Given the description of an element on the screen output the (x, y) to click on. 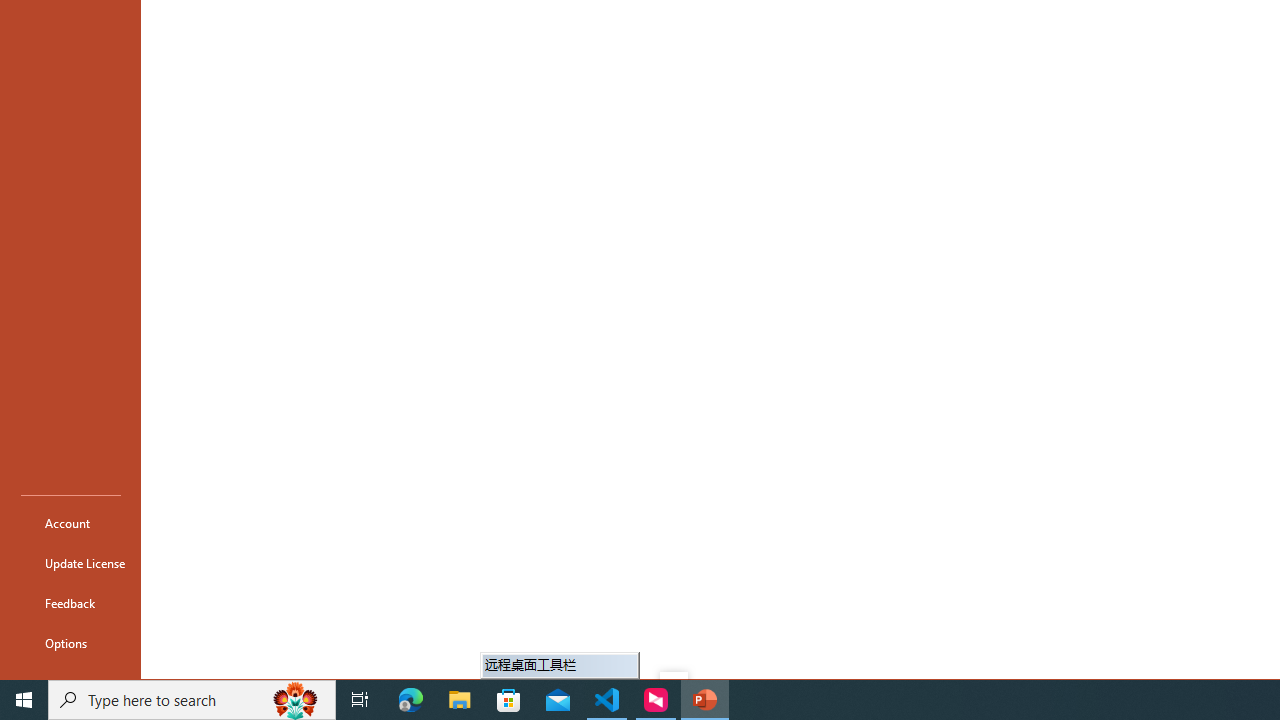
Feedback (70, 602)
Options (70, 642)
Update License (70, 562)
Account (70, 522)
